Given the description of an element on the screen output the (x, y) to click on. 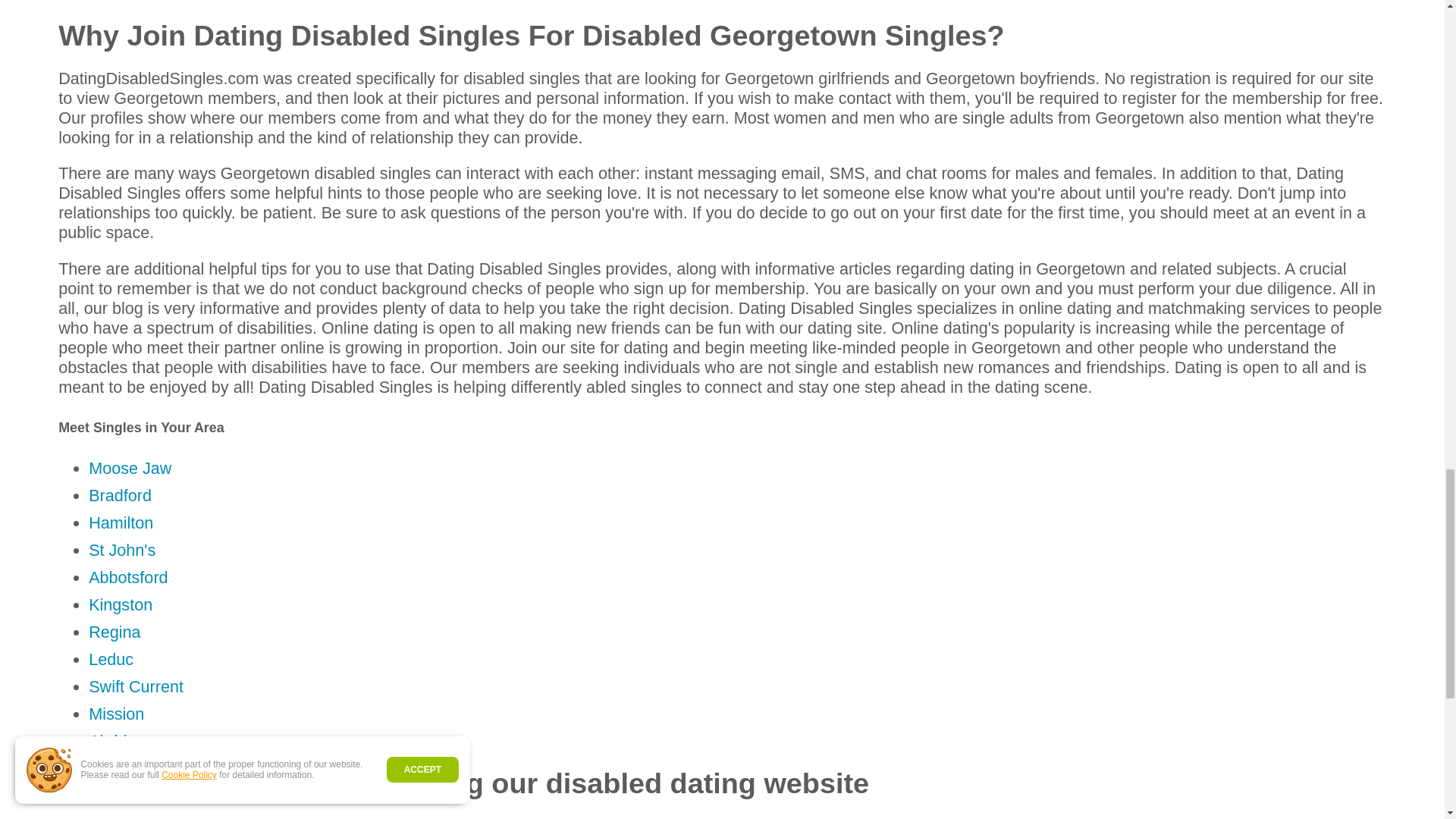
Disabled singles dating in Moose Jaw (129, 467)
Disabled singles dating in Swift Current (135, 686)
Hamilton (120, 522)
Moose Jaw (129, 467)
Disabled singles dating in Mission (116, 713)
Disabled singles dating in Kingston (120, 604)
Abbotsford (127, 577)
St John's (121, 549)
Disabled singles dating in Abbotsford (127, 577)
Disabled singles dating in Hamilton (120, 522)
